Given the description of an element on the screen output the (x, y) to click on. 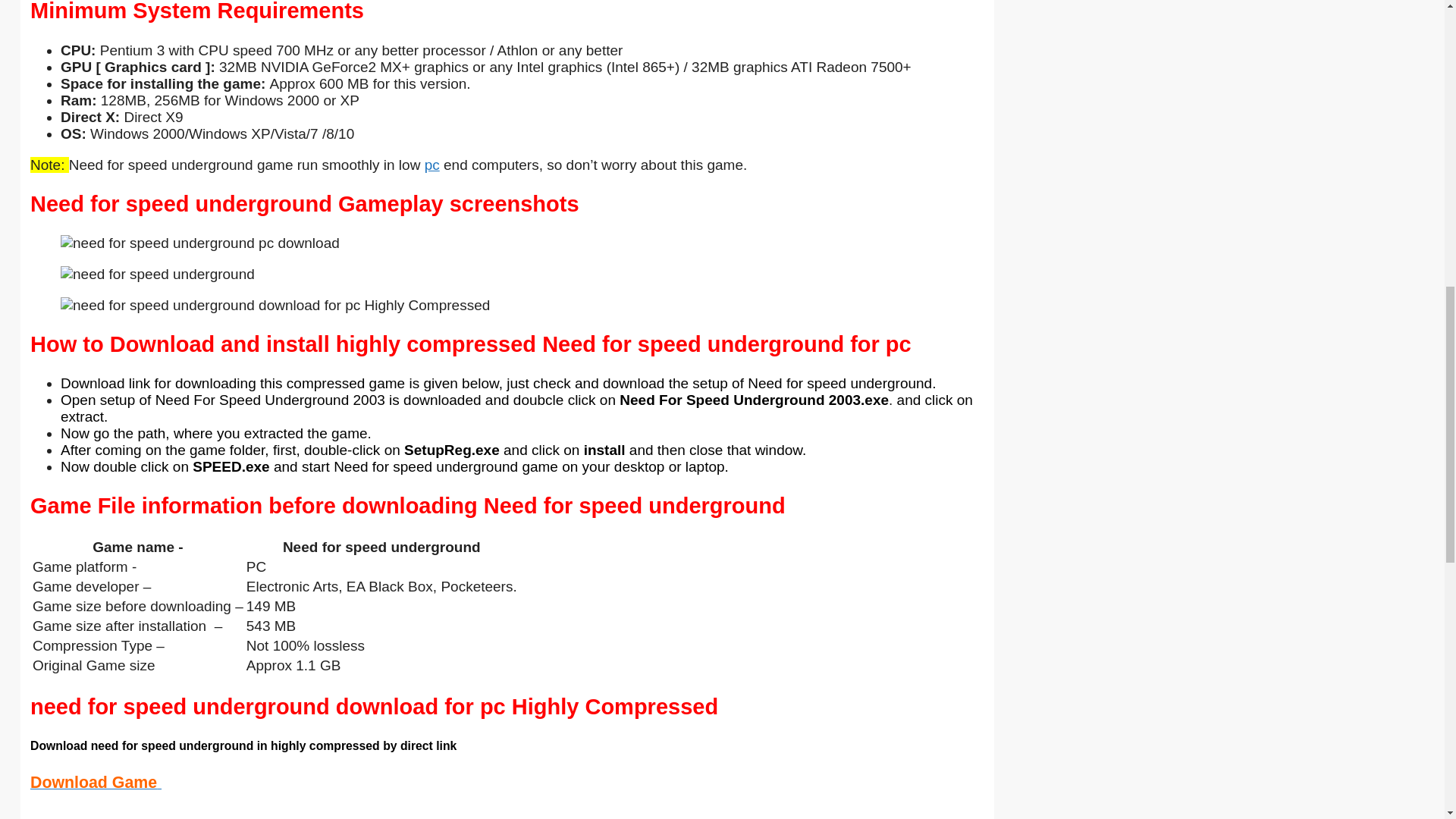
pc (432, 164)
Download Game  (95, 782)
